Given the description of an element on the screen output the (x, y) to click on. 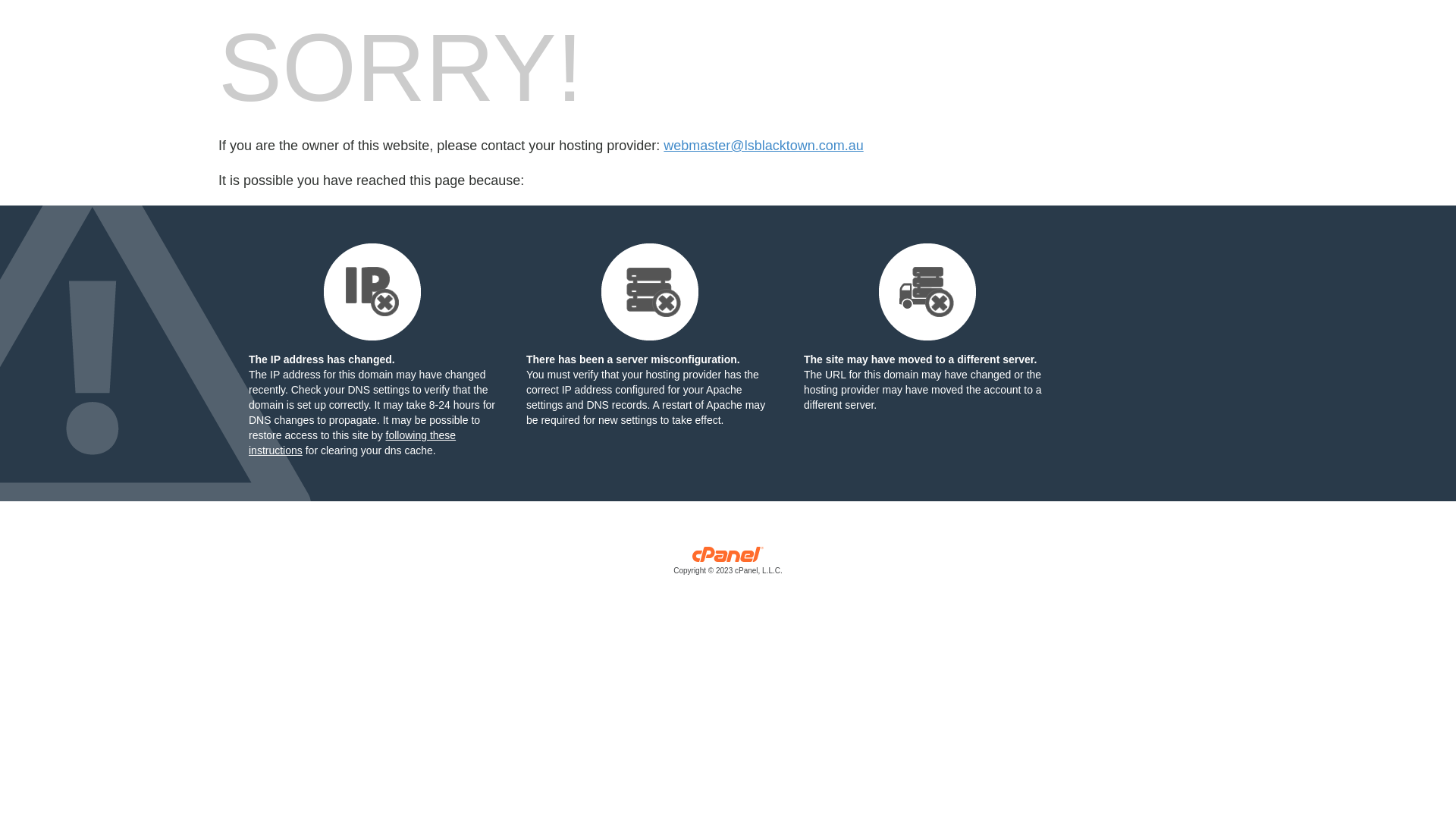
webmaster@lsblacktown.com.au Element type: text (762, 145)
following these instructions Element type: text (351, 442)
